Given the description of an element on the screen output the (x, y) to click on. 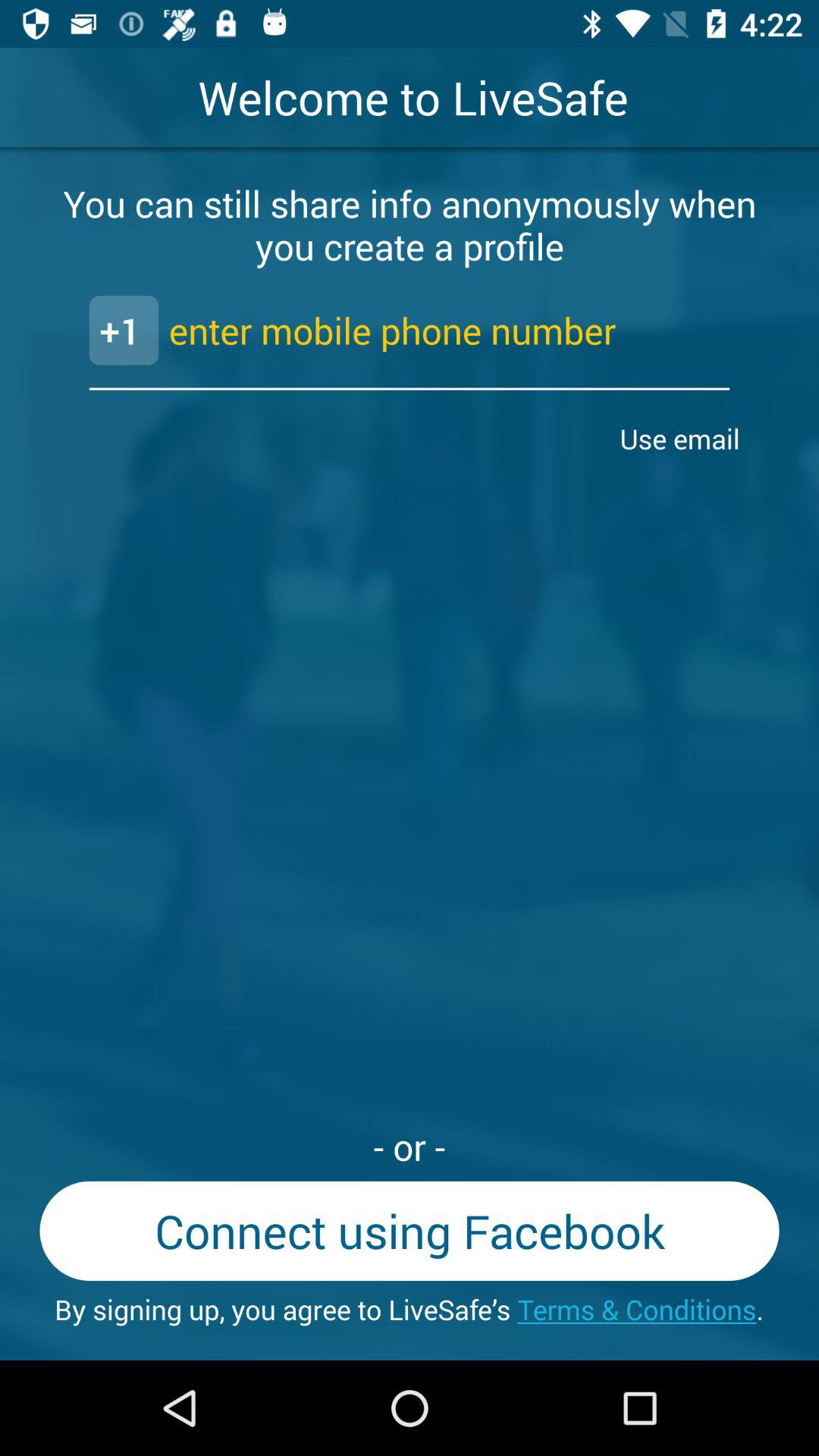
click on the option below or (409, 1230)
click the text below the line (684, 438)
select the text 1 enter mobile phone number (409, 330)
select the entire text in the row just below connect using facebook (409, 1309)
